Given the description of an element on the screen output the (x, y) to click on. 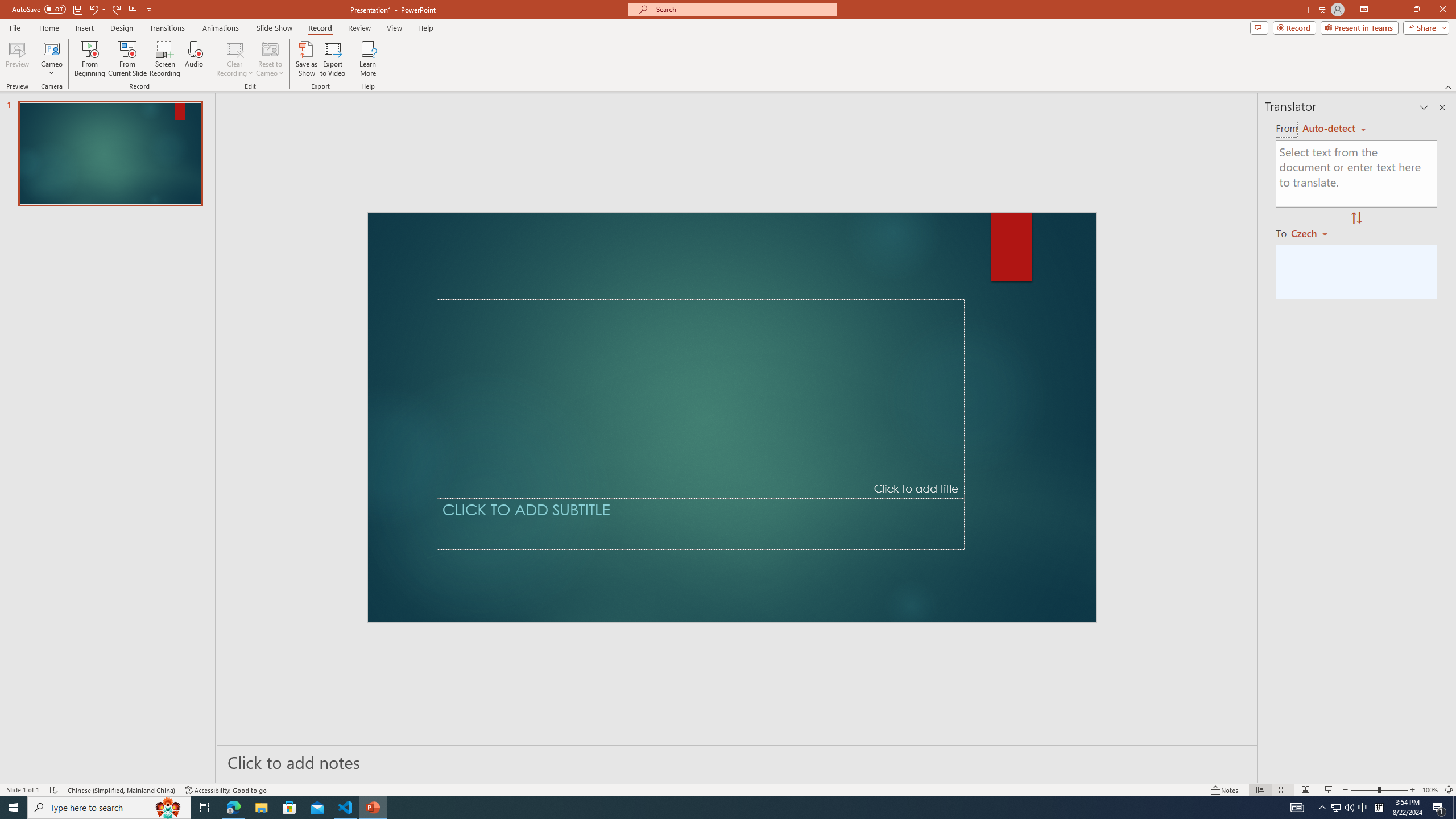
Clear Recording (234, 58)
Swap "from" and "to" languages. (1355, 218)
Reset to Cameo (269, 58)
From Beginning... (89, 58)
From Current Slide... (127, 58)
